Given the description of an element on the screen output the (x, y) to click on. 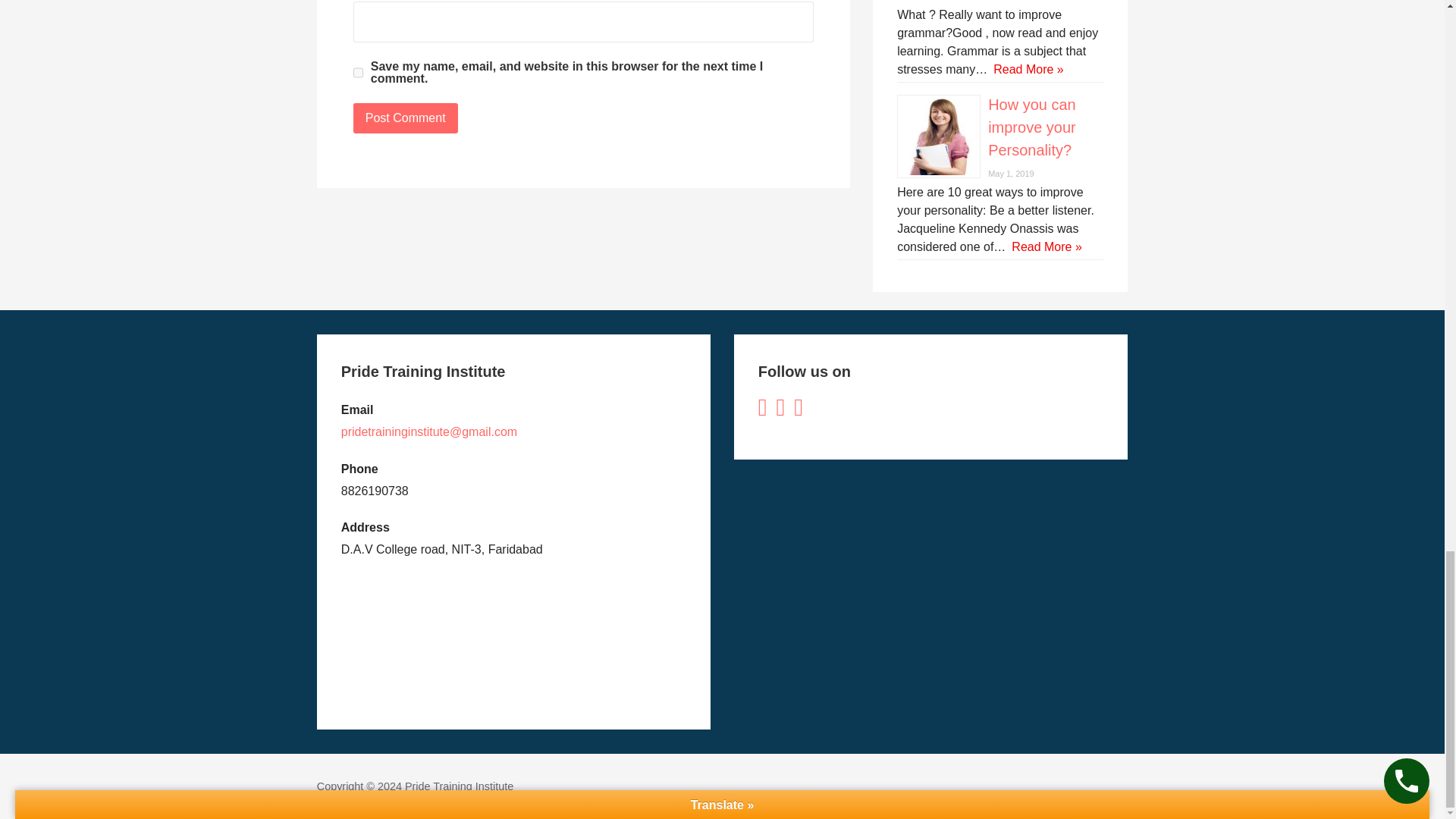
Post Comment (405, 118)
Post Comment (405, 118)
Permalink to How you can improve your Personality? (1031, 127)
